Given the description of an element on the screen output the (x, y) to click on. 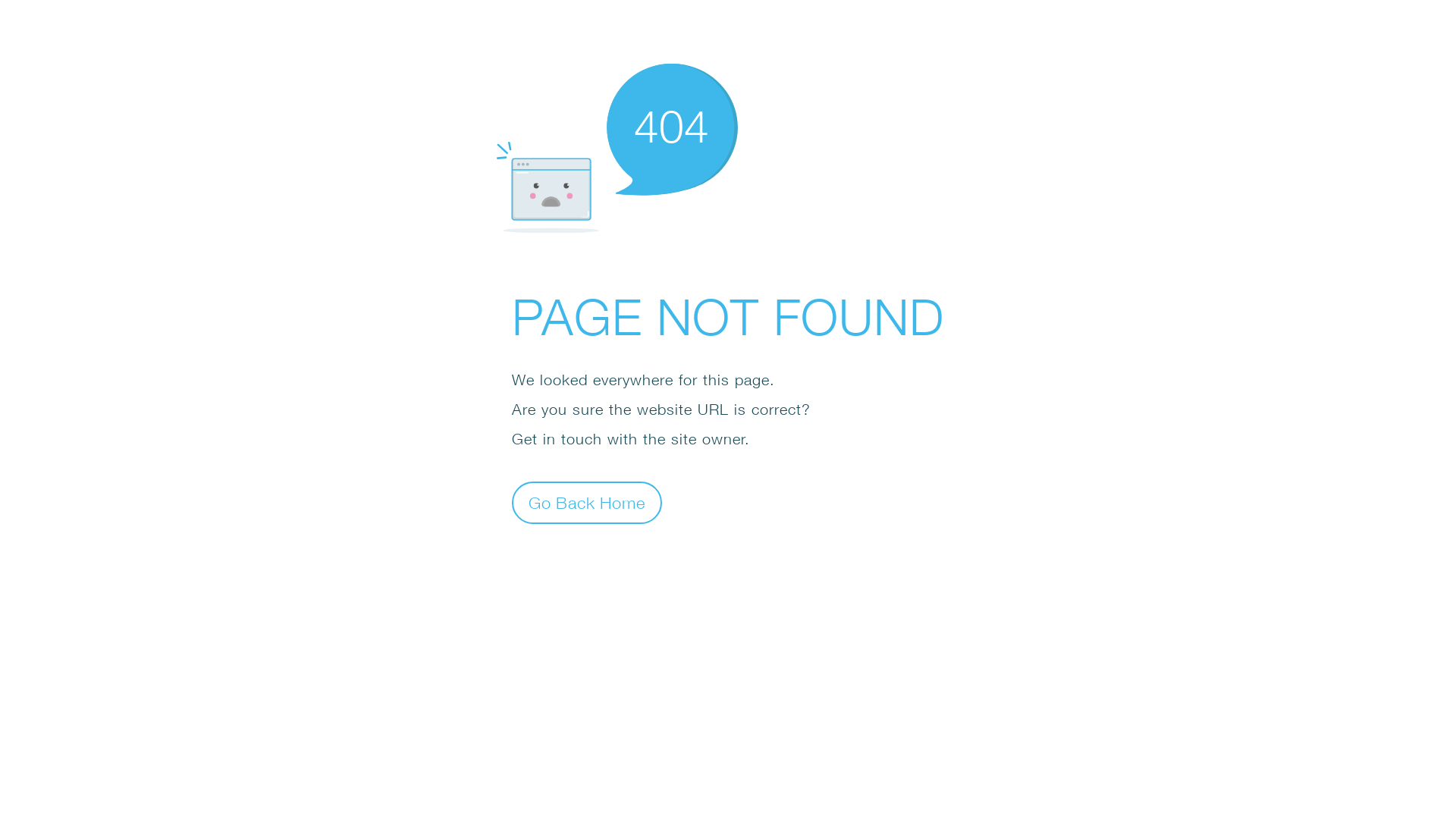
Go Back Home Element type: text (586, 502)
